Given the description of an element on the screen output the (x, y) to click on. 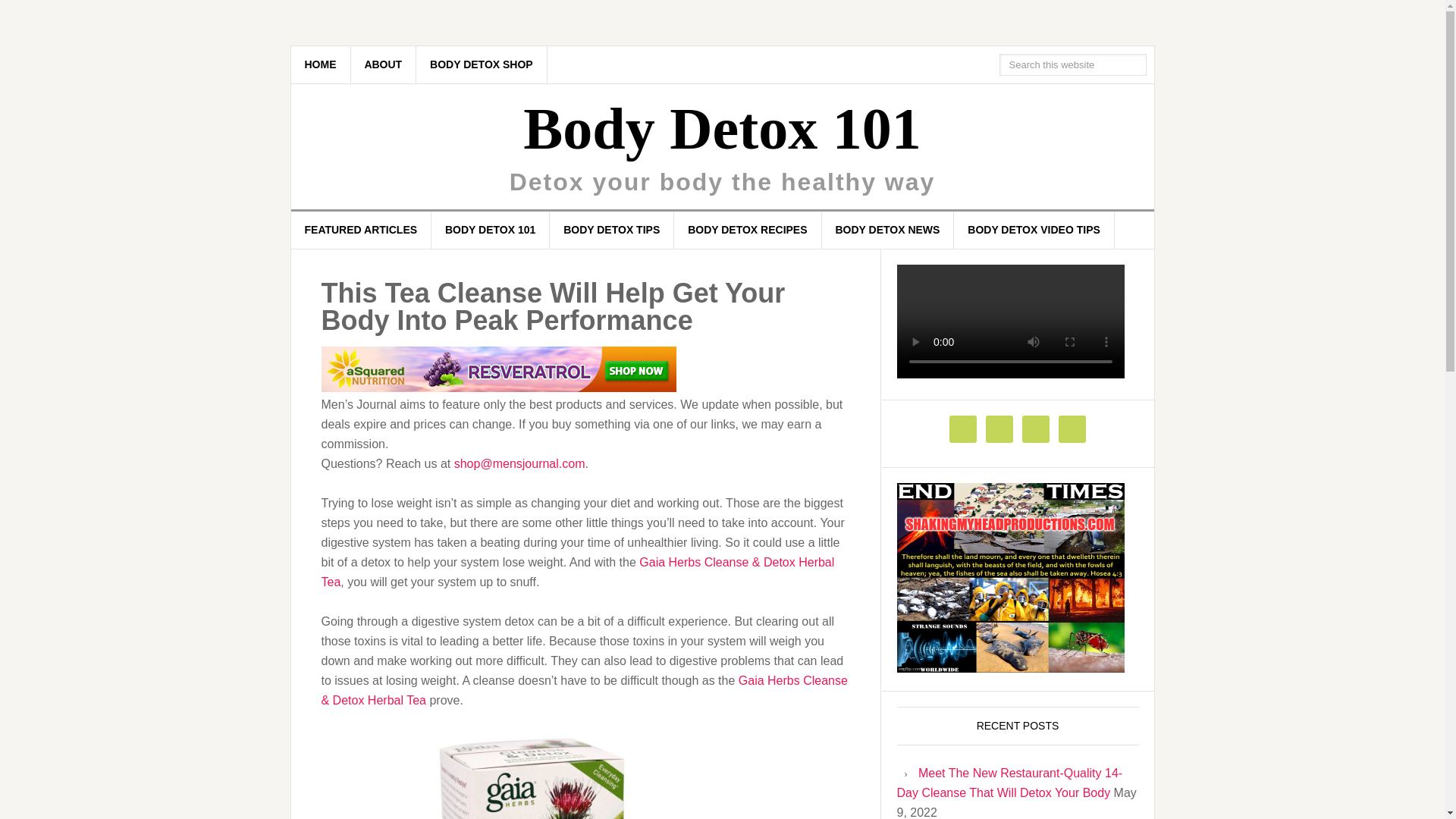
Body Detox 101 (721, 128)
ABOUT (383, 64)
BODY DETOX 101 (490, 229)
BODY DETOX RECIPES (747, 229)
BODY DETOX NEWS (887, 229)
BODY DETOX TIPS (612, 229)
FEATURED ARTICLES (361, 229)
BODY DETOX SHOP (481, 64)
HOME (320, 64)
BODY DETOX VIDEO TIPS (1034, 229)
